Given the description of an element on the screen output the (x, y) to click on. 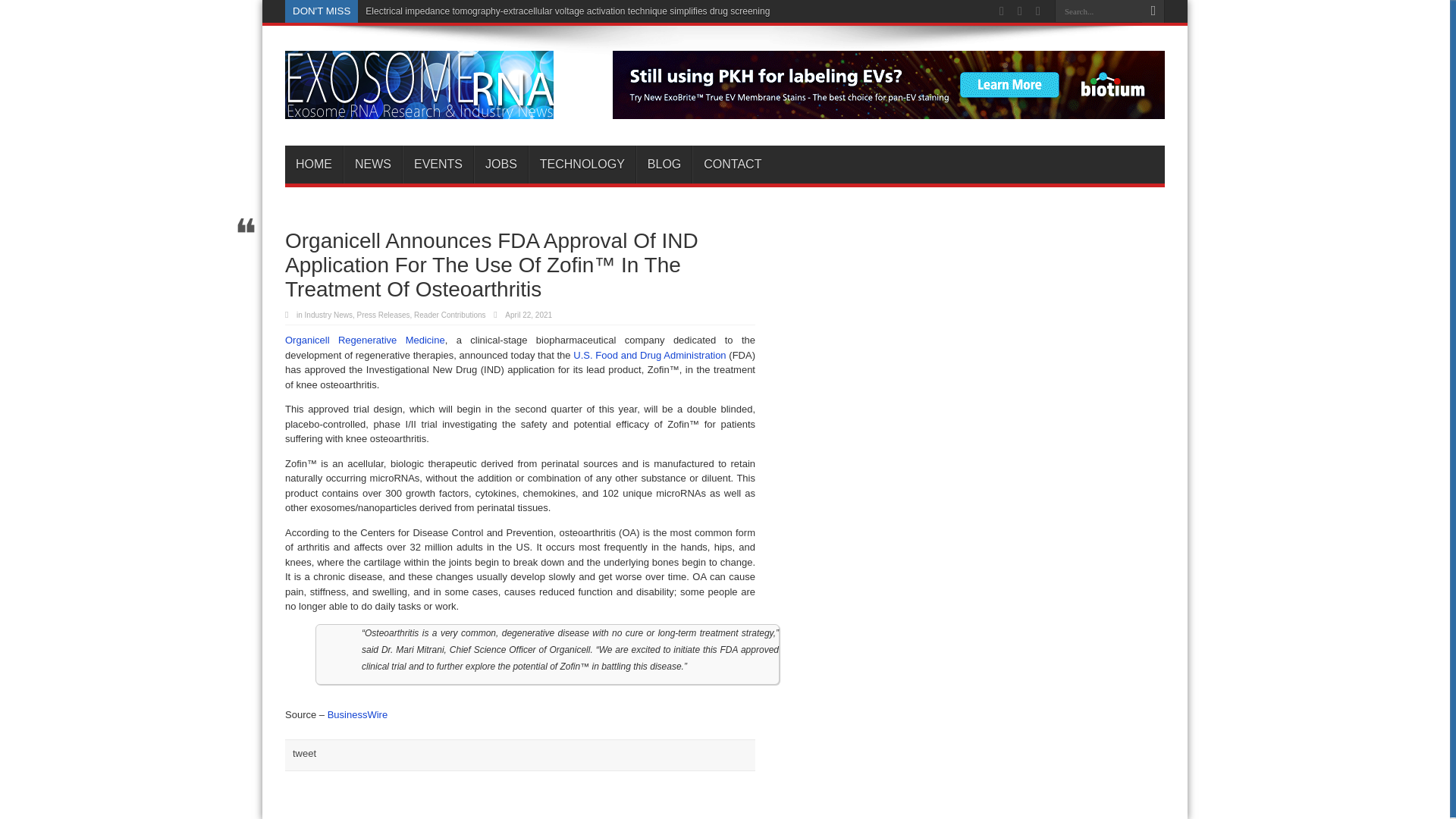
BLOG (663, 164)
EVENTS (438, 164)
CONTACT (732, 164)
NEWS (372, 164)
HOME (313, 164)
Search (1152, 11)
JOBS (500, 164)
TECHNOLOGY (581, 164)
Search... (1097, 11)
